Given the description of an element on the screen output the (x, y) to click on. 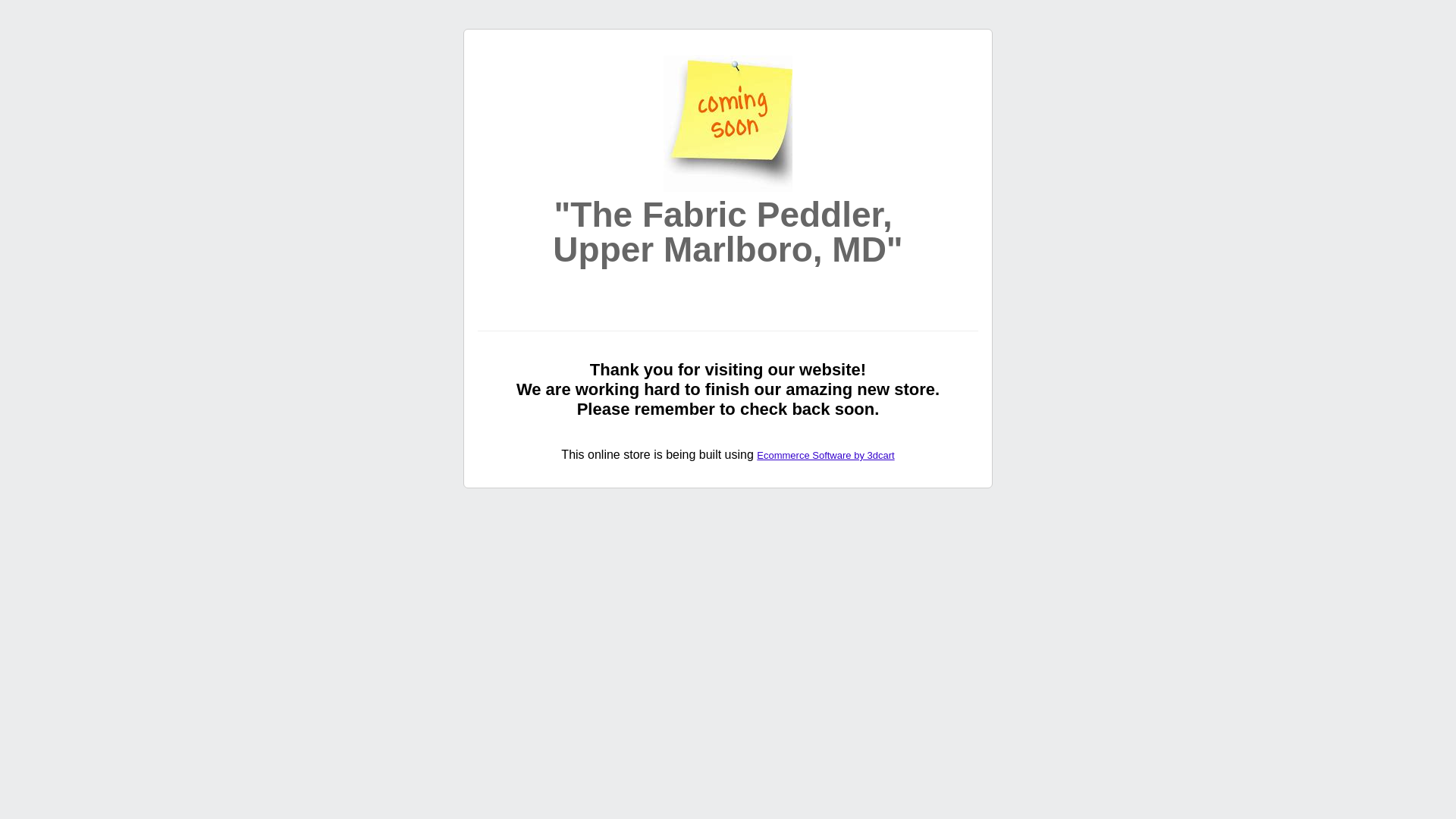
Ecommerce Software by 3dcart Element type: text (825, 455)
